Given the description of an element on the screen output the (x, y) to click on. 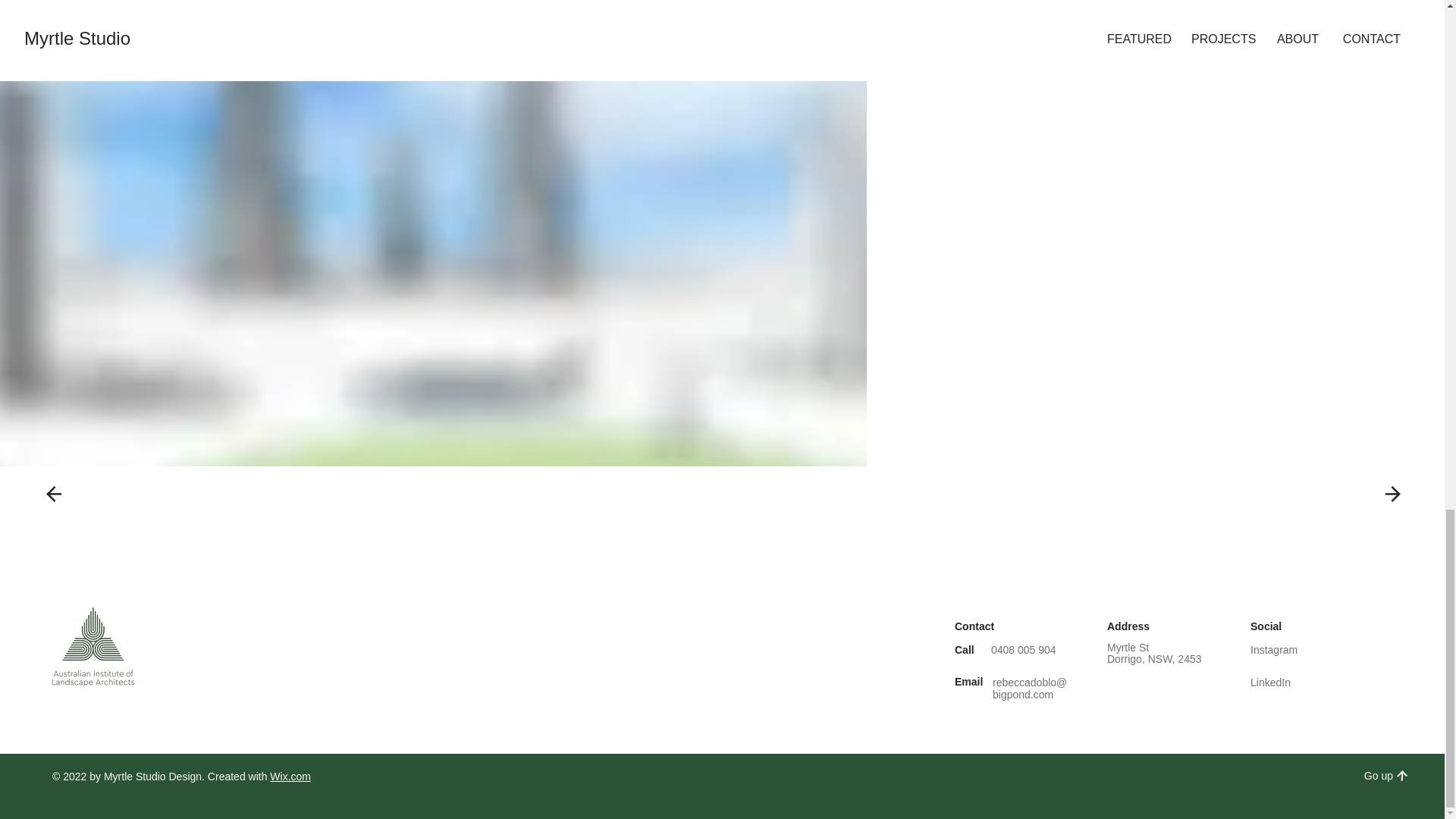
Instagram  (1275, 649)
LinkedIn  (1272, 682)
Wix.com (290, 776)
